Given the description of an element on the screen output the (x, y) to click on. 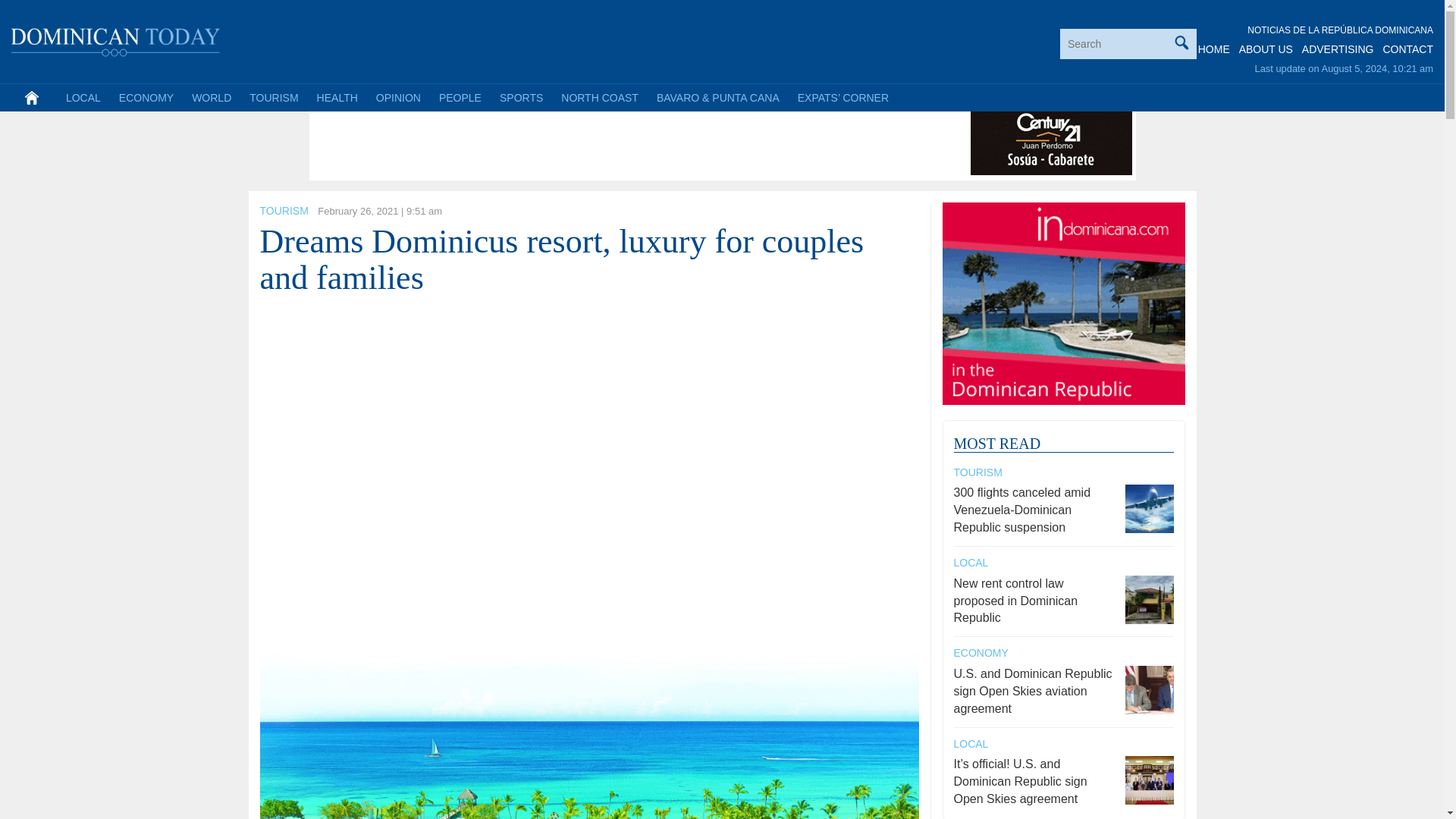
HOME (1214, 49)
HEALTH (336, 97)
ECONOMY (146, 97)
WORLD (211, 97)
TOURISM (283, 210)
Dominican Today News - Santo Domingo and Dominican Republic (116, 38)
CONTACT (1406, 49)
PEOPLE (459, 97)
OPINION (397, 97)
LOCAL (83, 97)
Advertisement (589, 141)
ABOUT US (1265, 49)
TOURISM (273, 97)
SPORTS (520, 97)
